Given the description of an element on the screen output the (x, y) to click on. 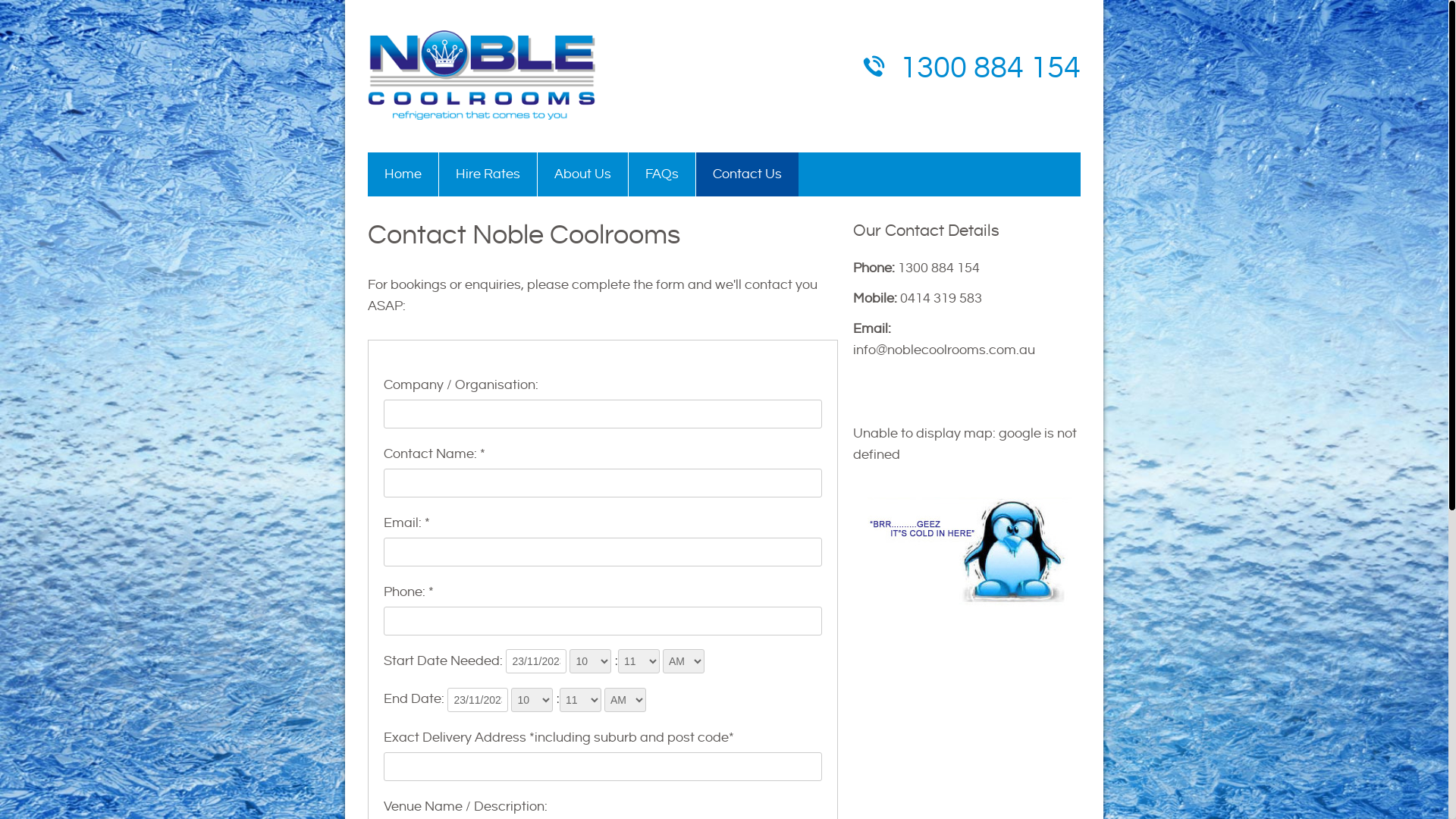
About Us Element type: text (582, 174)
Home Element type: text (403, 174)
FAQs Element type: text (662, 174)
Contact Us Element type: text (747, 174)
Hire Rates Element type: text (488, 174)
